Given the description of an element on the screen output the (x, y) to click on. 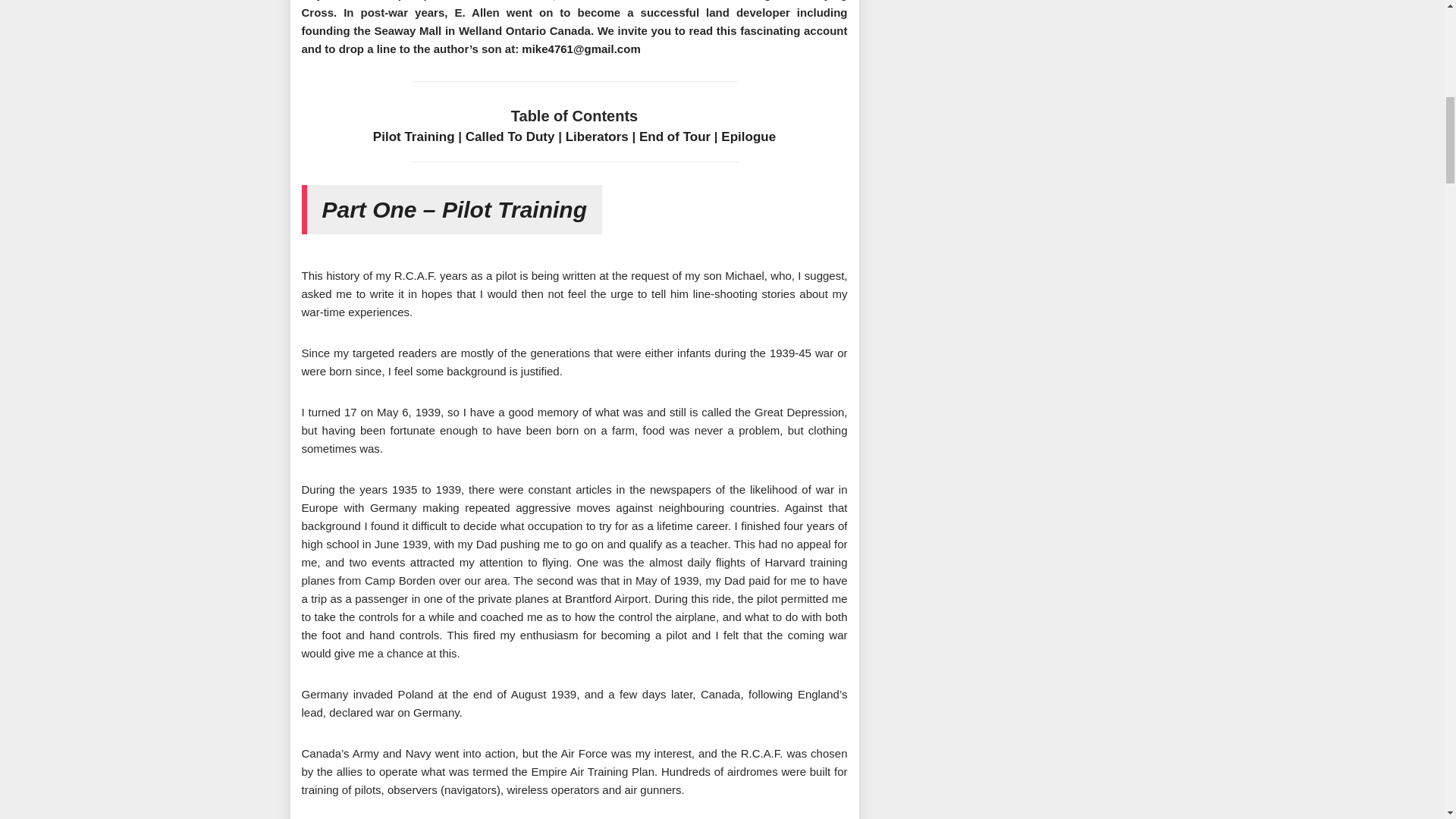
End of Tour (674, 136)
Liberators (597, 136)
Pilot Training (413, 136)
Called To Duty (509, 136)
Epilogue (748, 136)
